Given the description of an element on the screen output the (x, y) to click on. 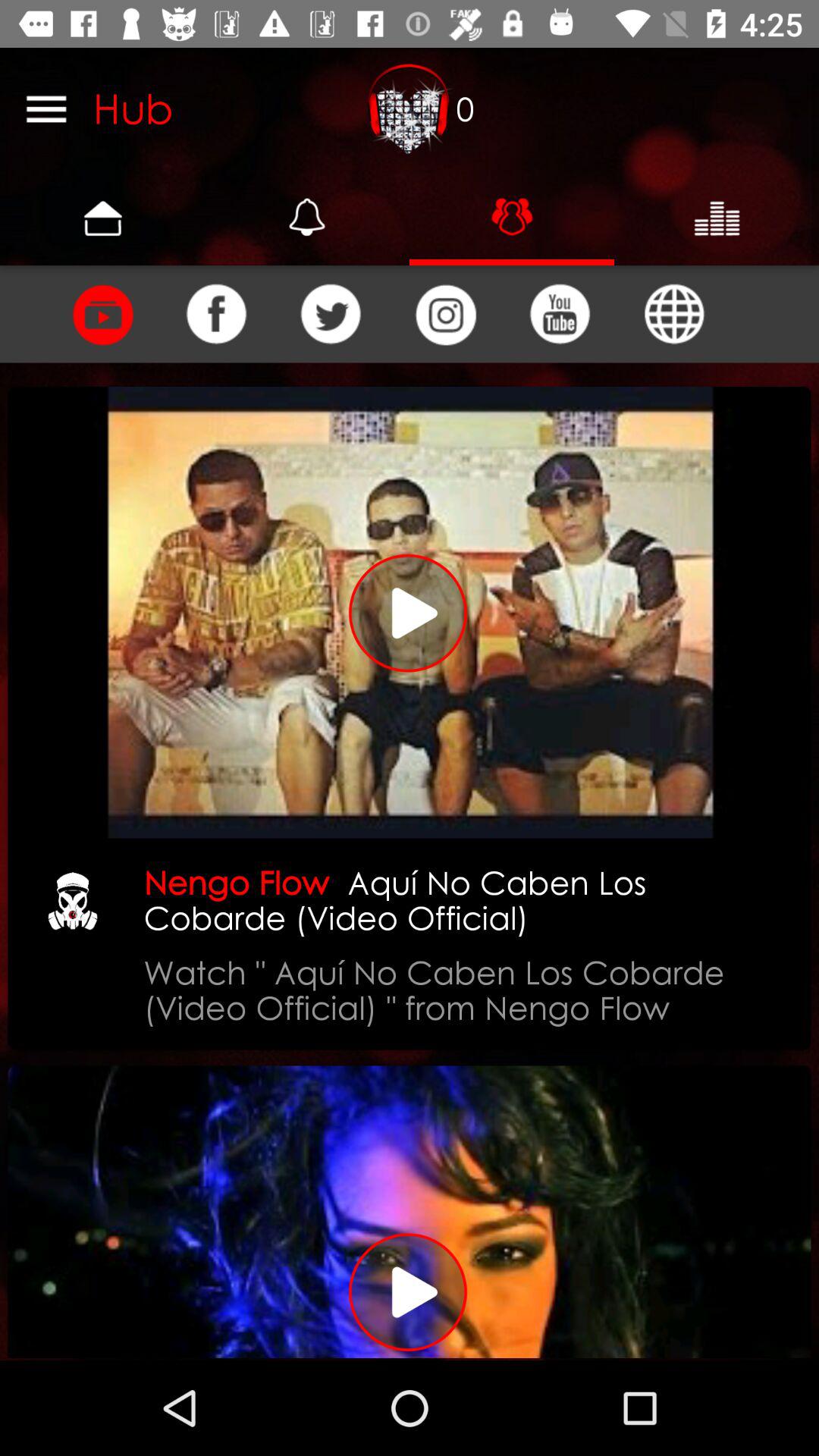
the menu bar (45, 108)
